Given the description of an element on the screen output the (x, y) to click on. 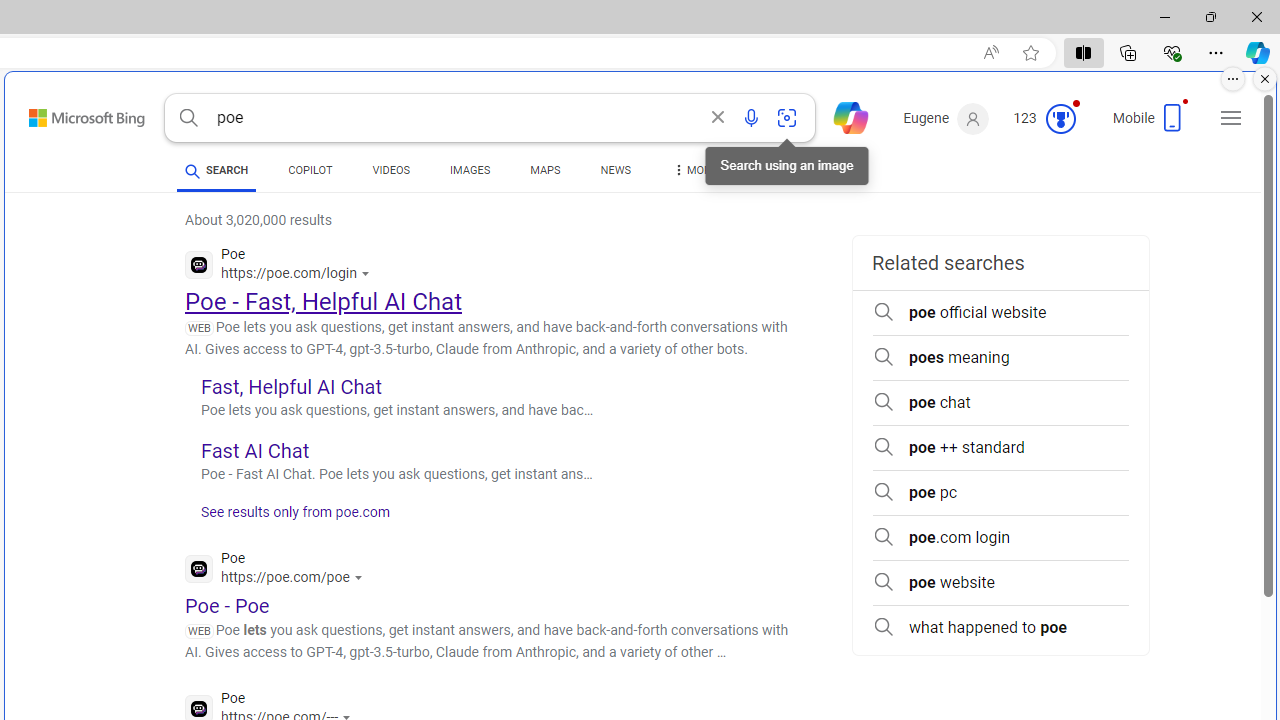
poes meaning (1000, 358)
Settings and quick links (1231, 117)
MORE (693, 173)
Mobile (1152, 124)
